Given the description of an element on the screen output the (x, y) to click on. 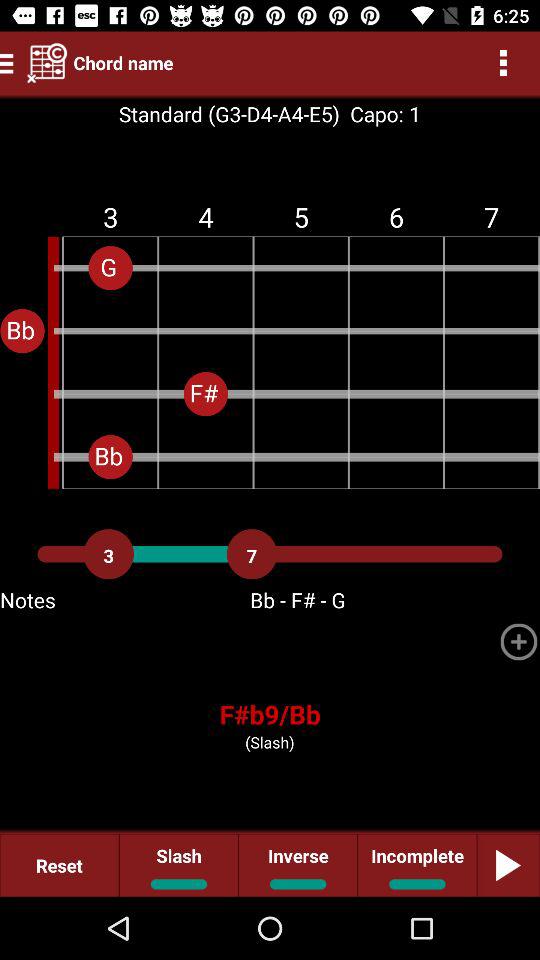
press item next to inverse item (416, 864)
